Given the description of an element on the screen output the (x, y) to click on. 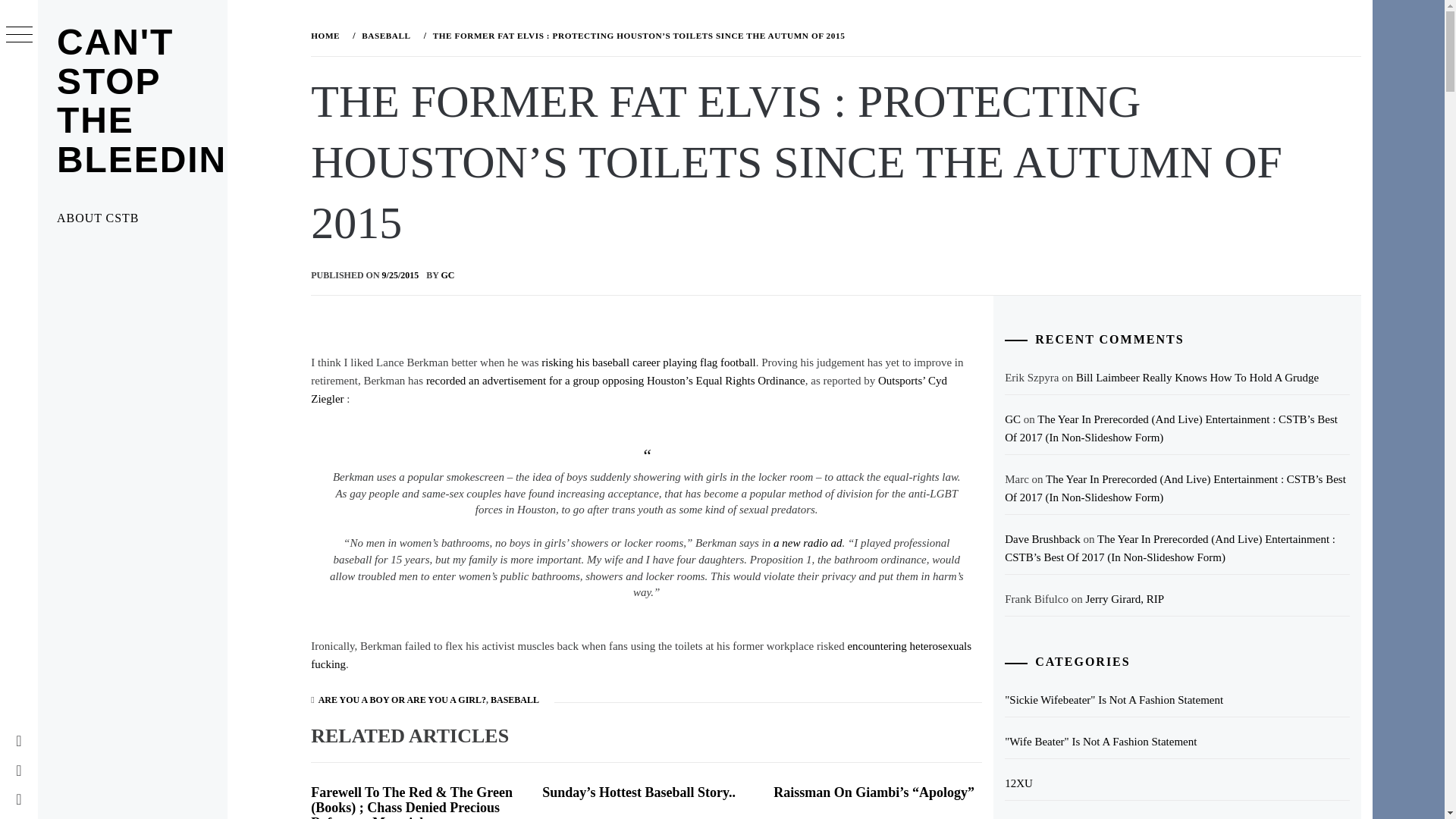
a new radio ad (807, 542)
ABOUT CSTB (132, 218)
"Sickie Wifebeater" Is Not A Fashion Statement (1176, 700)
Dave Brushback (1042, 539)
Jerry Girard, RIP (1123, 598)
GC (447, 275)
CAN'T STOP THE BLEEDING (156, 100)
GC (1012, 419)
BASEBALL (384, 35)
BASEBALL (514, 699)
